Given the description of an element on the screen output the (x, y) to click on. 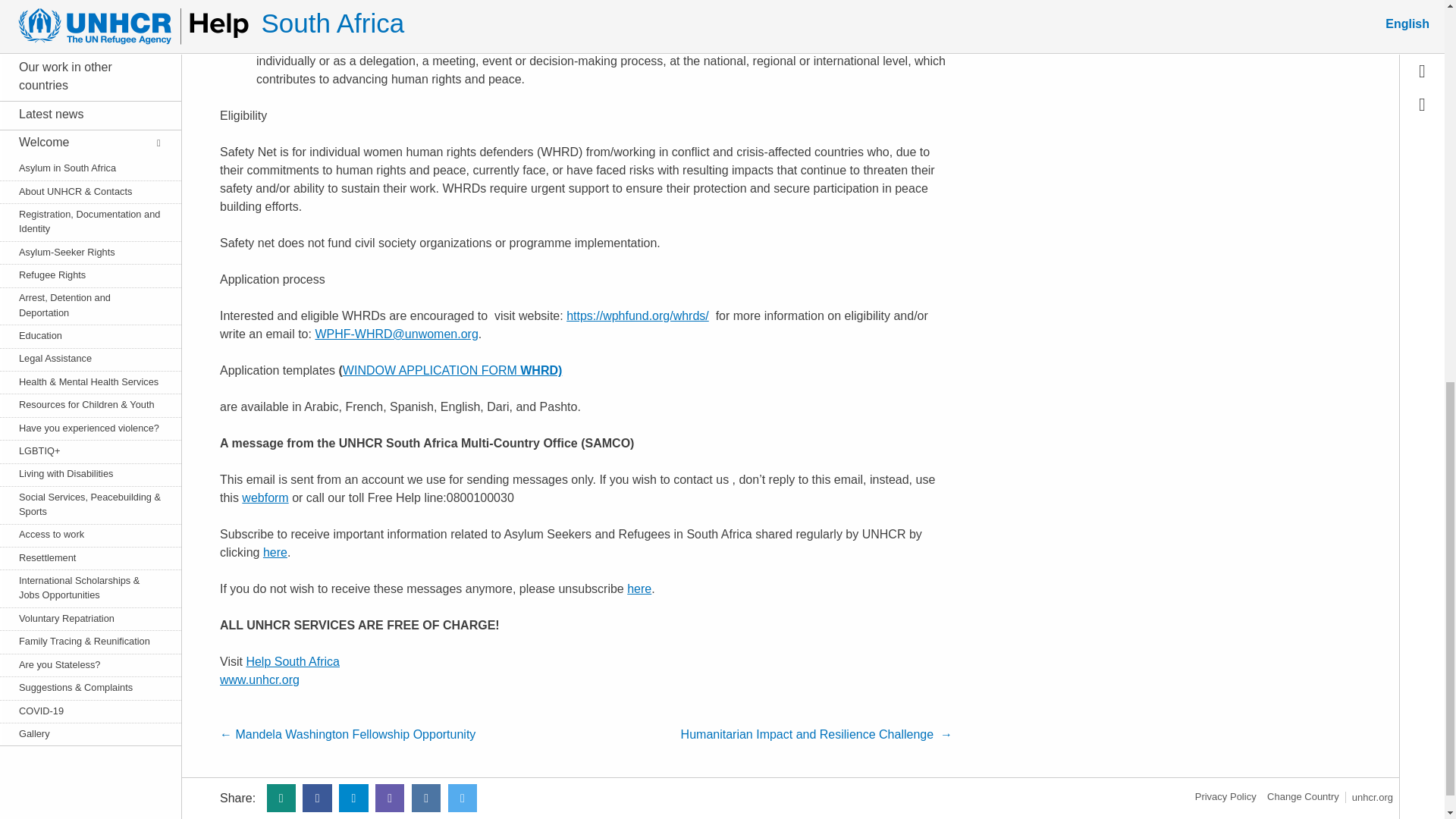
webform (264, 497)
here (638, 588)
www.unhcr.org (259, 679)
Help South Africa (292, 661)
here (274, 552)
help.unhcr.org (1302, 796)
UNHCR - the UN Refugee Agency (1372, 797)
Gallery (81, 2)
Advocacy support through direct logistical support  (391, 24)
